Given the description of an element on the screen output the (x, y) to click on. 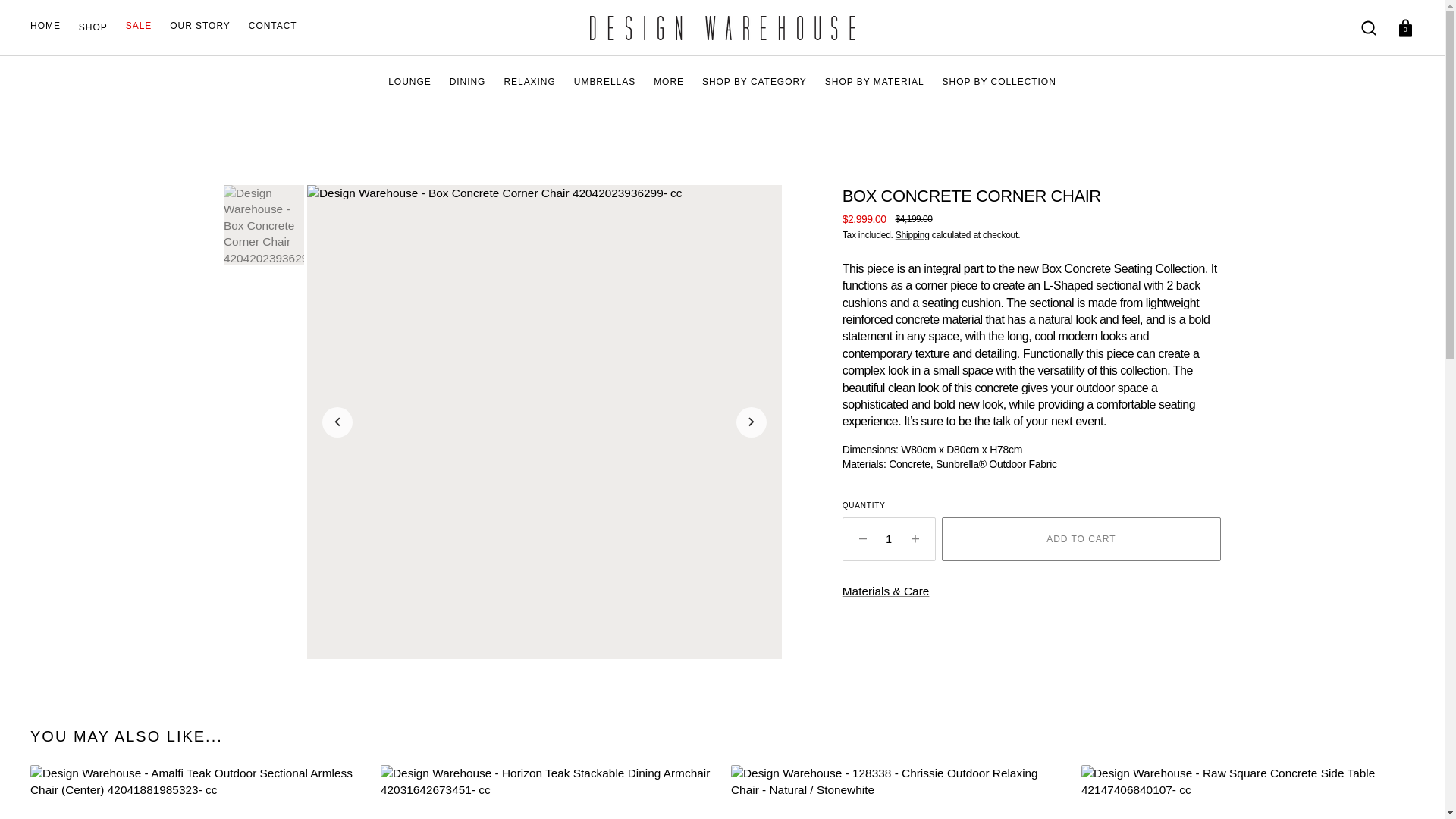
OUR STORY (200, 25)
Relaxing (528, 82)
HOME (45, 25)
SALE (138, 25)
SHOP (92, 27)
Umbrellas (603, 82)
Dining (467, 82)
Shop by Category (753, 82)
Shop by Collection (999, 82)
Shop by Material (874, 82)
